Given the description of an element on the screen output the (x, y) to click on. 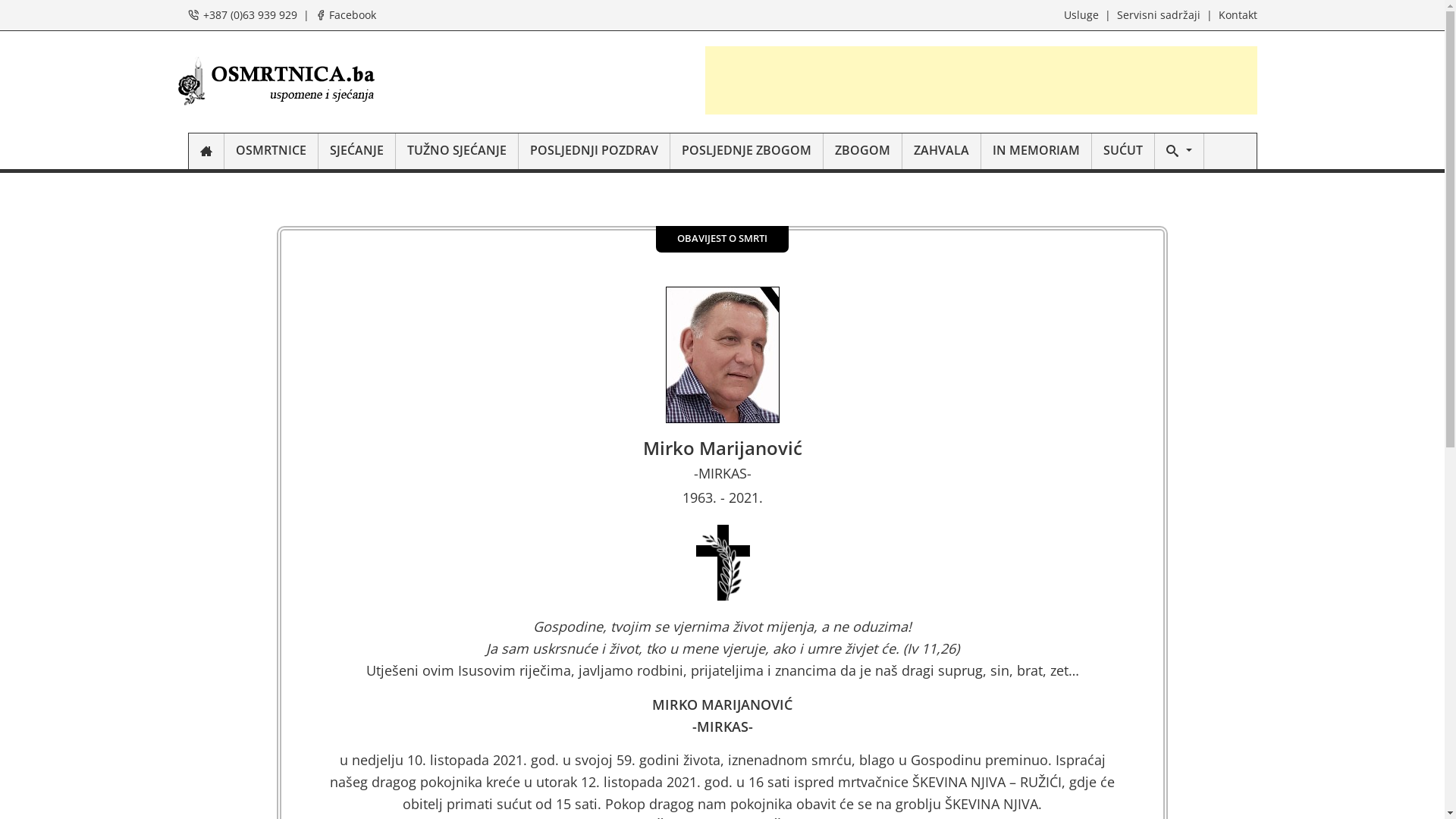
Advertisement Element type: hover (981, 80)
Usluge Element type: text (1080, 14)
OSMRTNICE Element type: text (271, 151)
IN MEMORIAM Element type: text (1036, 151)
ZBOGOM Element type: text (862, 151)
Facebook Element type: text (352, 14)
Kontakt Element type: text (1236, 14)
POSLJEDNJI POZDRAV Element type: text (594, 151)
ZAHVALA Element type: text (941, 151)
POSLJEDNJE ZBOGOM Element type: text (746, 151)
+387 (0)63 939 929 Element type: text (250, 14)
